Given the description of an element on the screen output the (x, y) to click on. 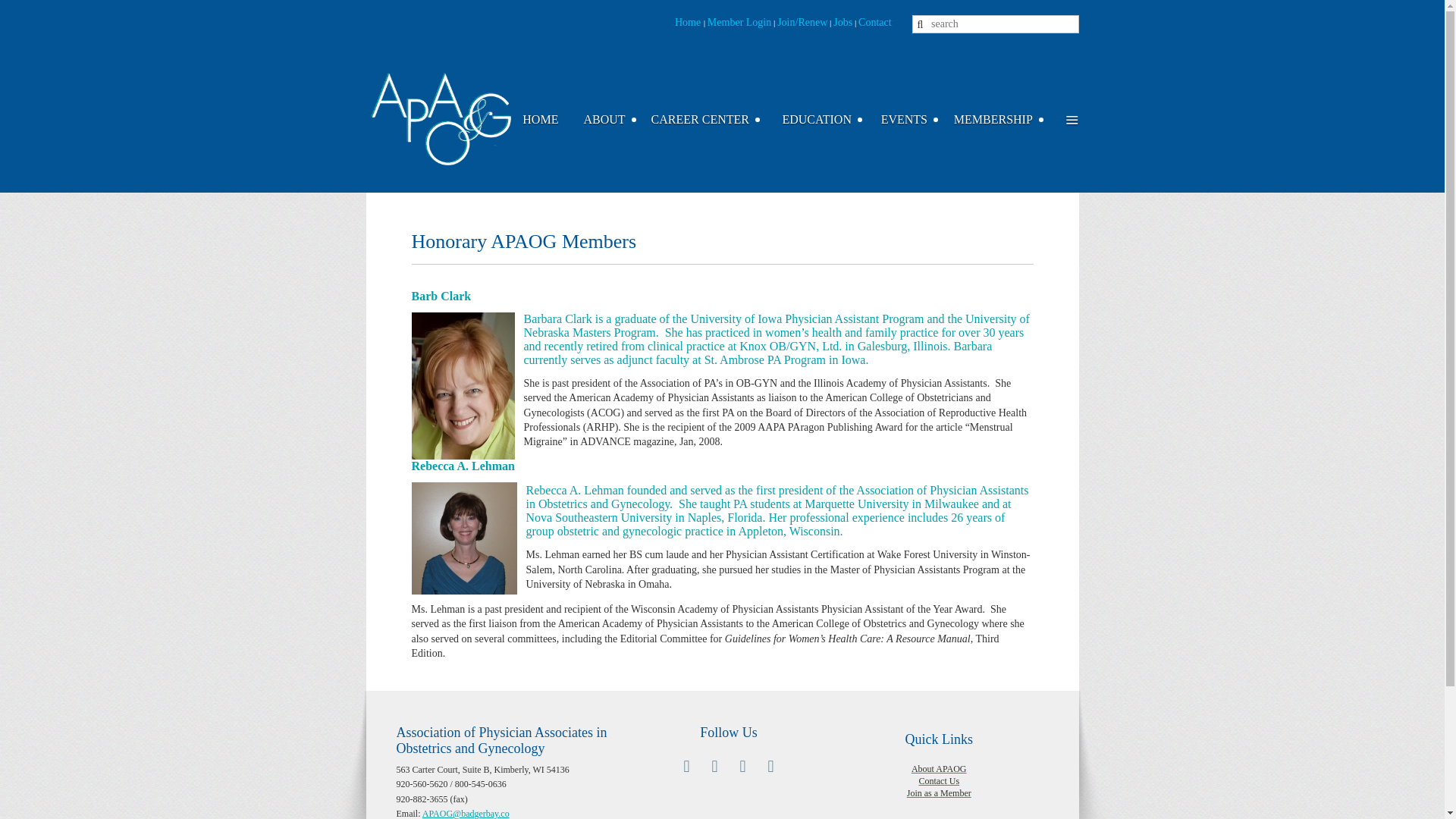
About (613, 119)
HOME (549, 119)
MEMBERSHIP (1002, 119)
Member Login (739, 21)
Education (825, 119)
Jobs (841, 21)
Home (549, 119)
Home (689, 21)
ABOUT (613, 119)
Career Center (708, 119)
